Given the description of an element on the screen output the (x, y) to click on. 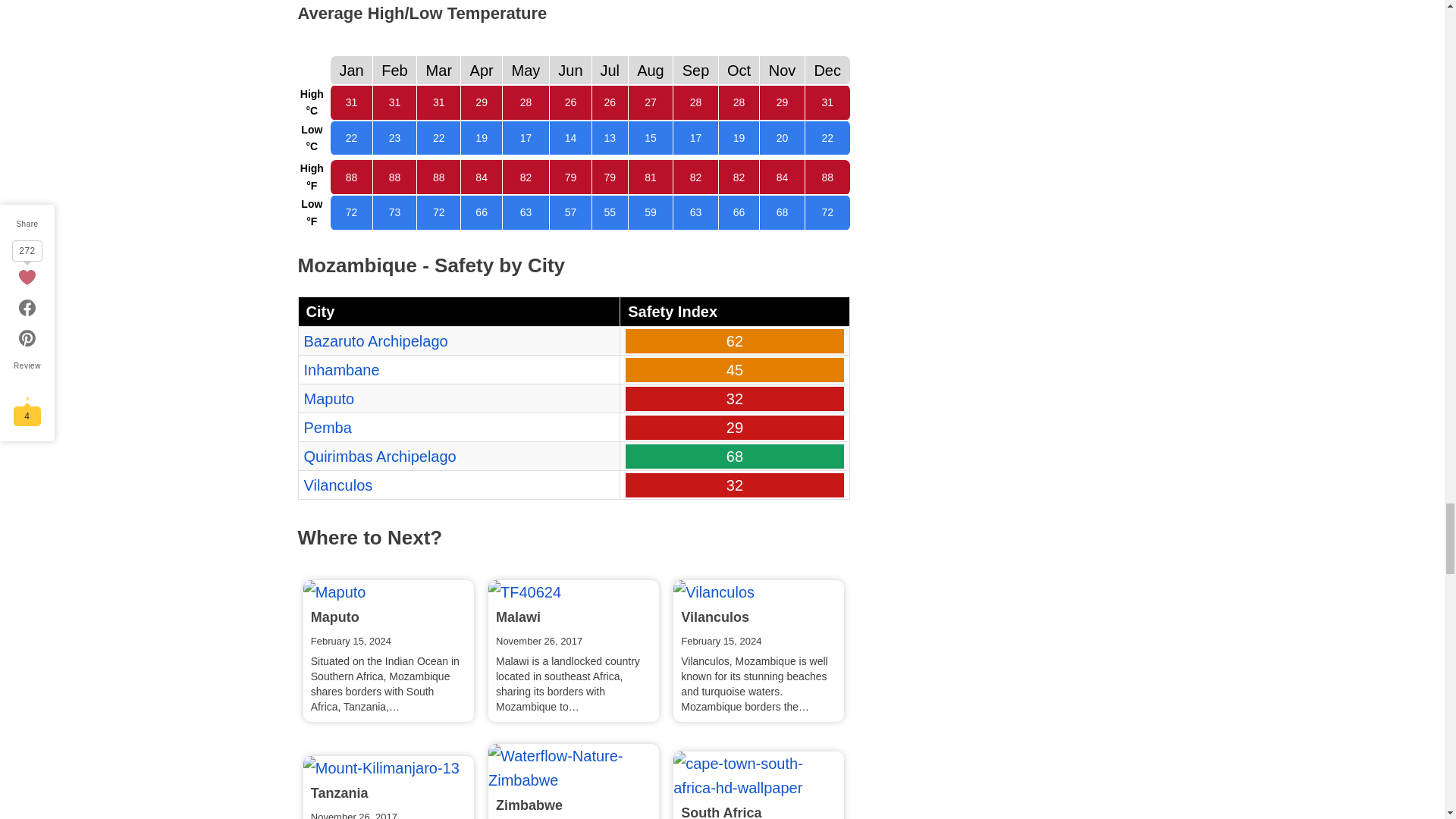
Pemba (326, 427)
Malawi (523, 591)
Maputo (334, 591)
Maputo (327, 398)
Bazaruto Archipelago (374, 340)
Inhambane (340, 369)
